Given the description of an element on the screen output the (x, y) to click on. 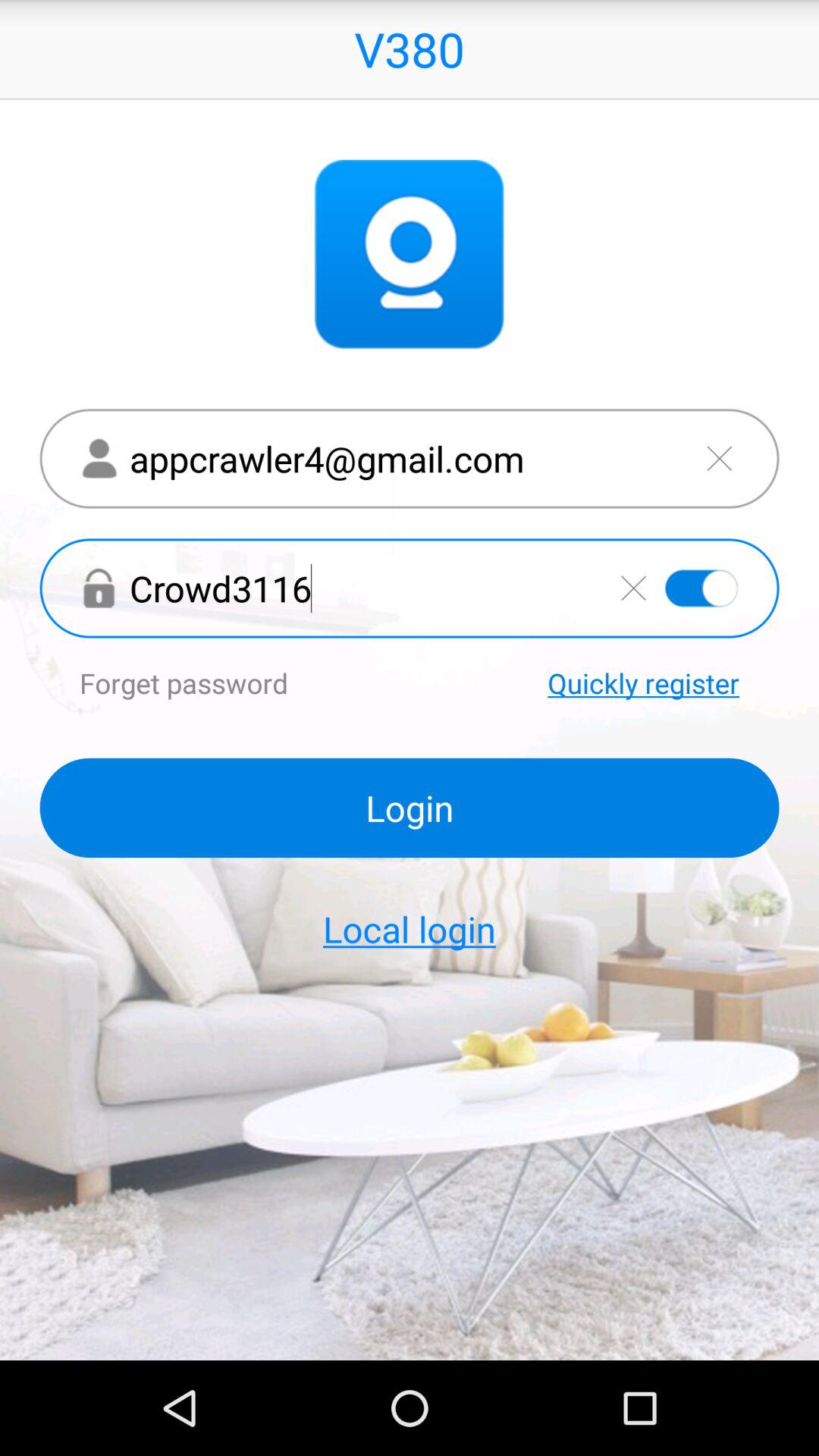
clear field (633, 587)
